Given the description of an element on the screen output the (x, y) to click on. 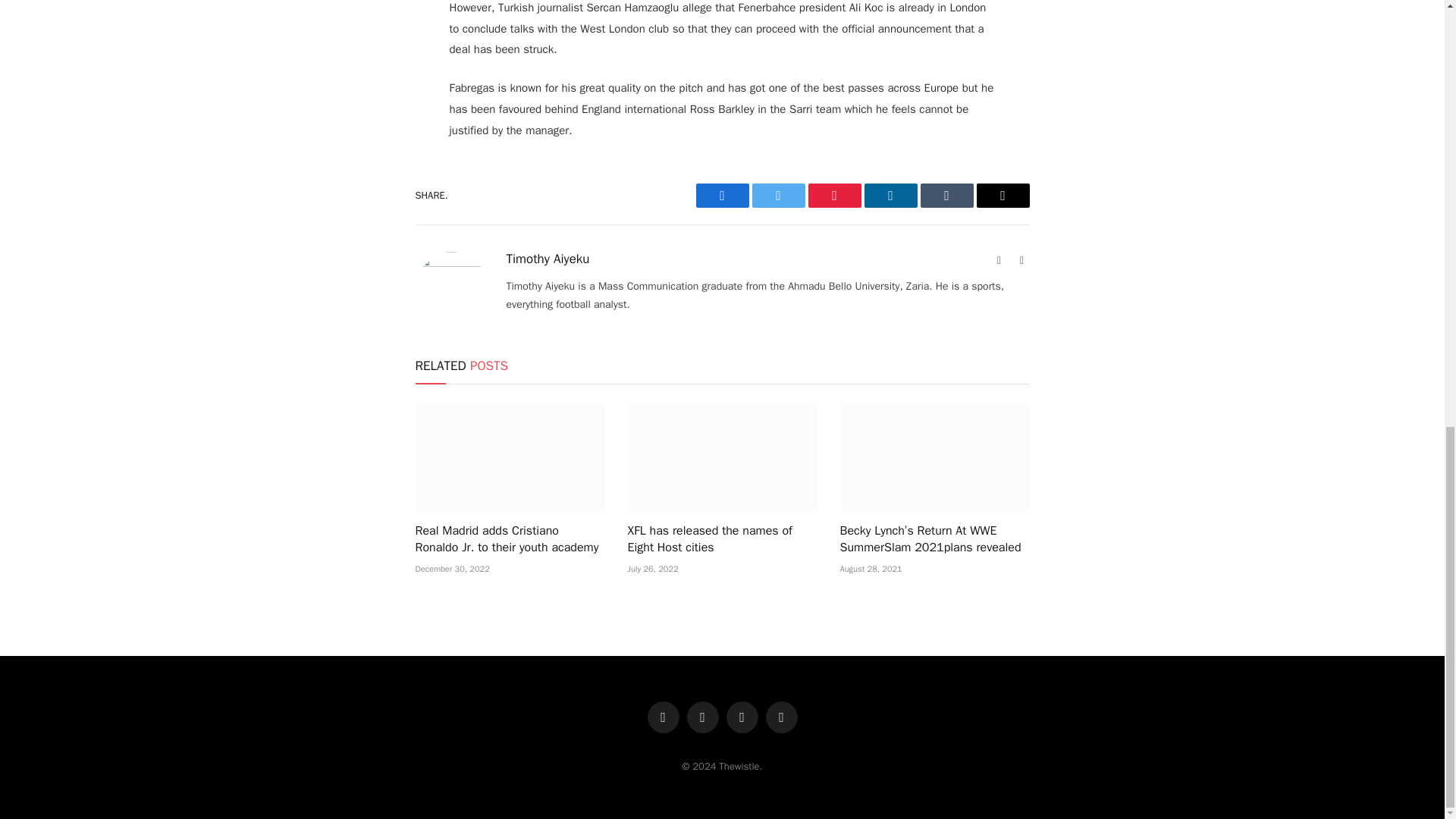
Facebook (722, 195)
Twitter (778, 195)
Share on LinkedIn (890, 195)
Share on Pinterest (834, 195)
Share on Facebook (722, 195)
